Given the description of an element on the screen output the (x, y) to click on. 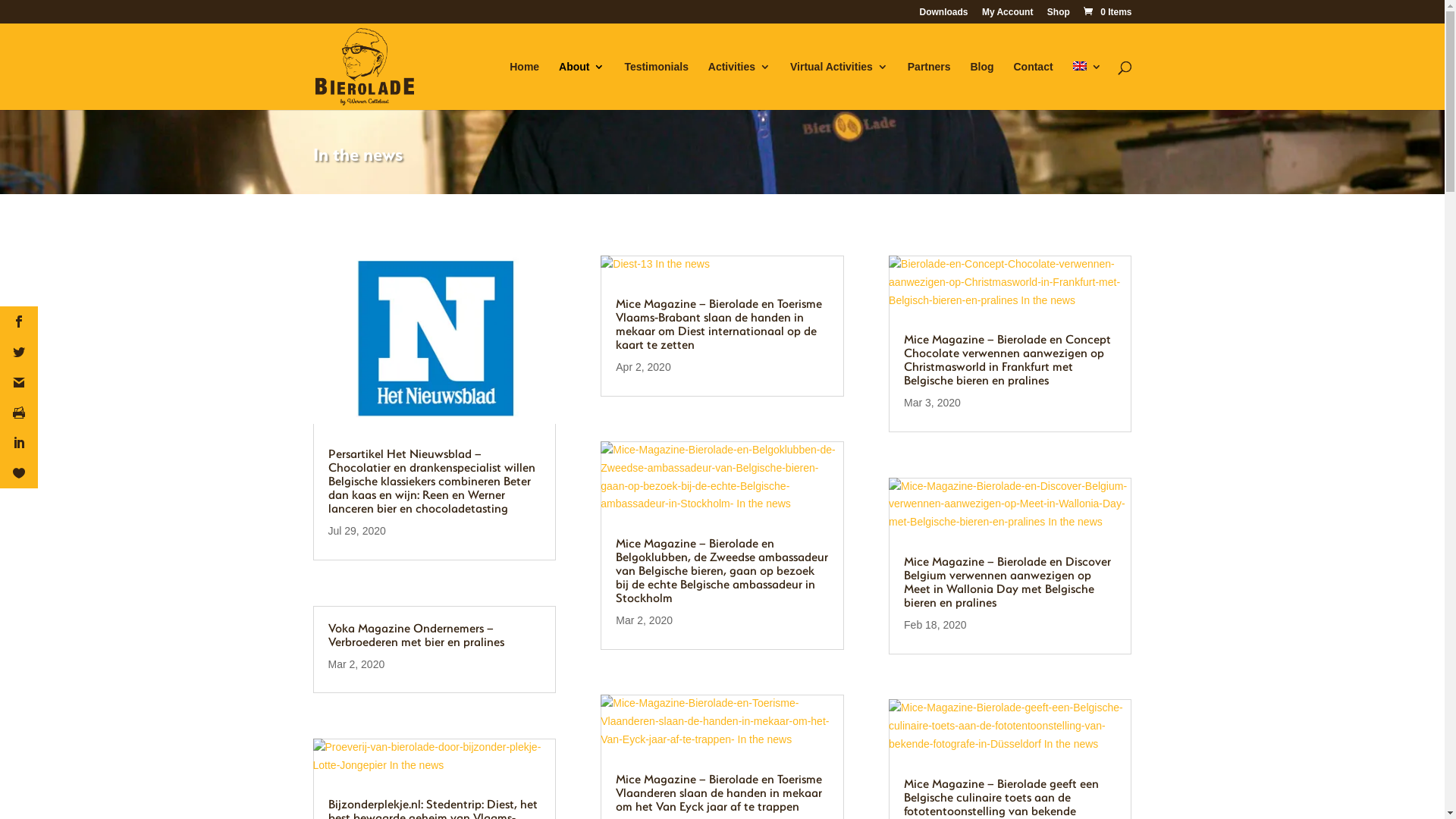
Virtual Activities Element type: text (839, 85)
Activities Element type: text (739, 85)
My Account Element type: text (1007, 15)
Shop Element type: text (1058, 15)
About Element type: text (581, 85)
Downloads Element type: text (943, 15)
Partners Element type: text (928, 85)
Testimonials Element type: text (656, 85)
Blog Element type: text (981, 85)
Home Element type: text (524, 85)
Contact Element type: text (1032, 85)
0 Items Element type: text (1106, 11)
